Given the description of an element on the screen output the (x, y) to click on. 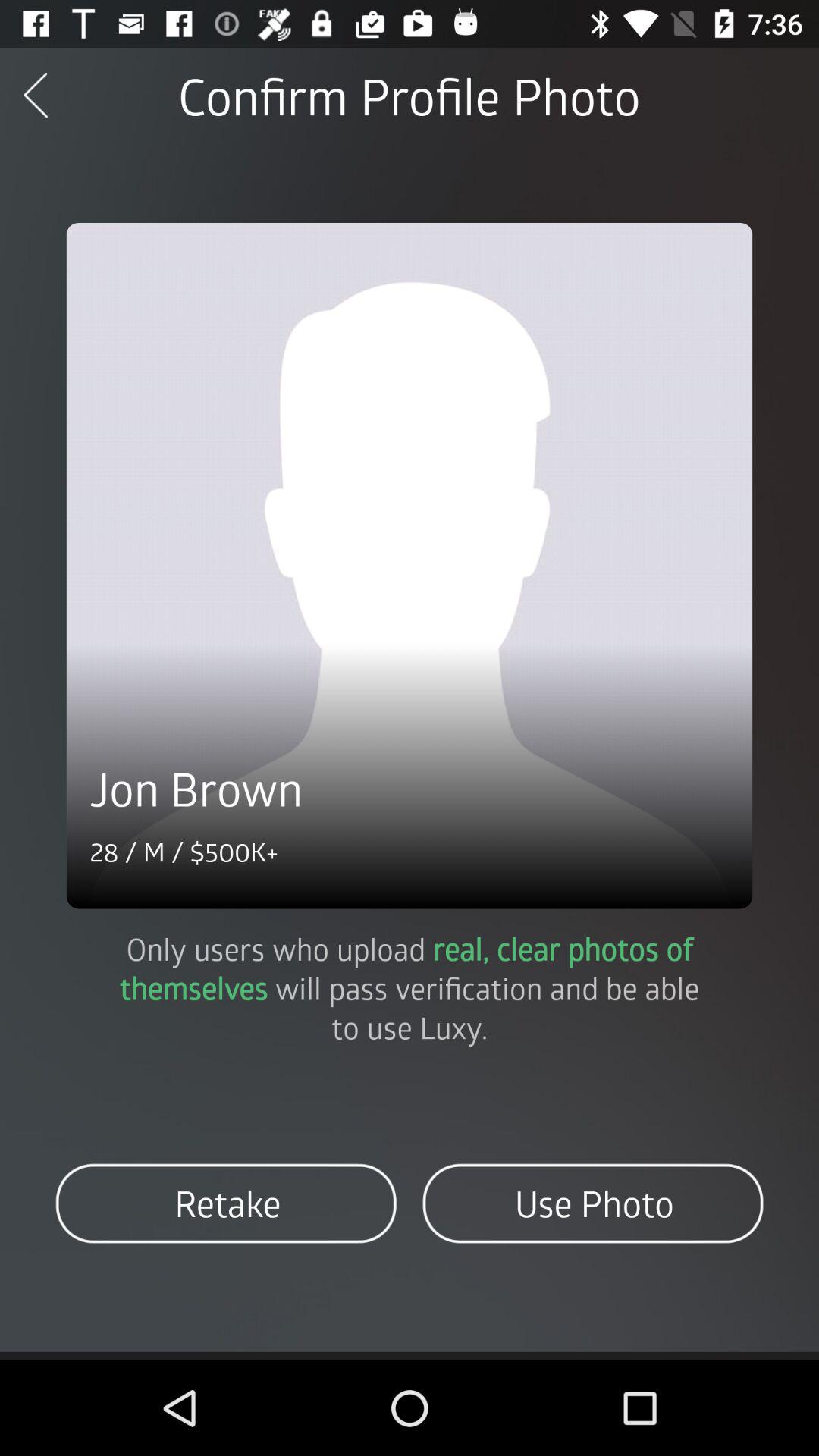
turn on only users who icon (409, 987)
